Given the description of an element on the screen output the (x, y) to click on. 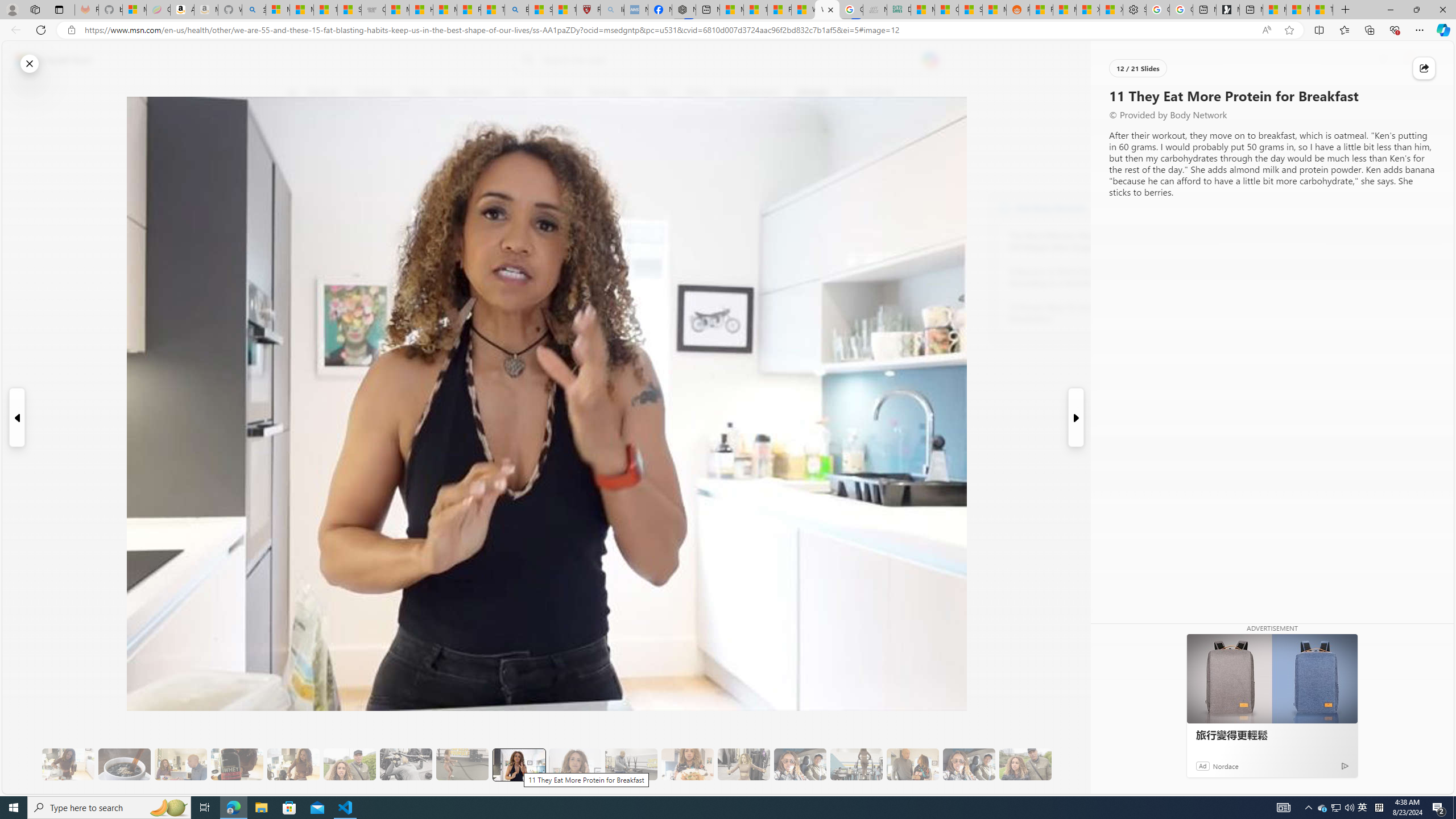
7 They Don't Skip Meals (293, 764)
9 They Do Bench Exercises (406, 764)
8 Reasons to Drink Kombucha, According to a Nutritionist (1071, 277)
20 Overall, It Will Improve Your Health (1024, 764)
Crime (657, 92)
Previous Slide (16, 417)
Body Network (449, 147)
Microsoft rewards (1382, 60)
Politics (697, 92)
